Given the description of an element on the screen output the (x, y) to click on. 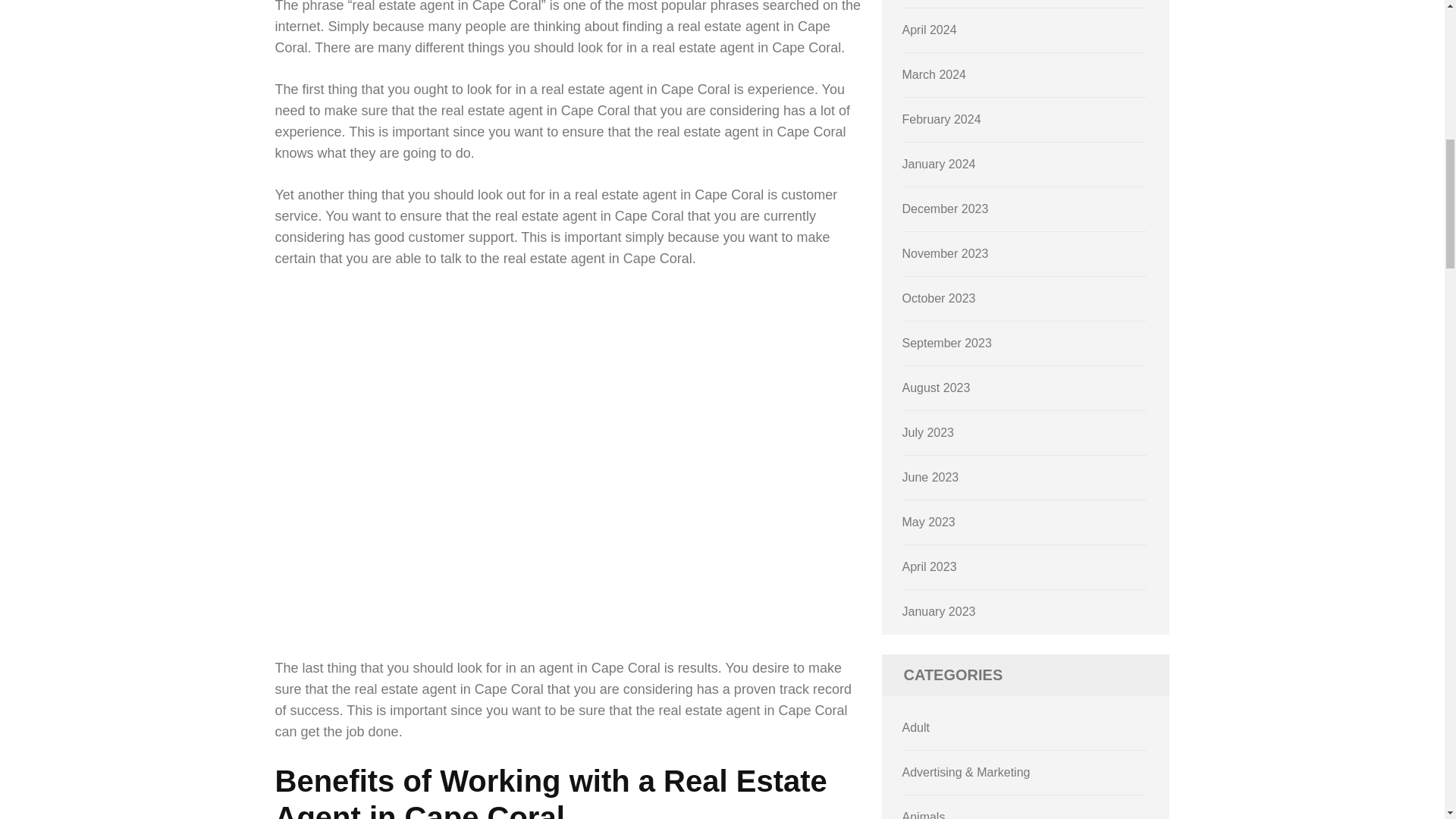
December 2023 (945, 208)
February 2024 (941, 119)
March 2024 (934, 74)
January 2023 (938, 611)
April 2023 (929, 566)
June 2023 (930, 477)
January 2024 (938, 164)
September 2023 (946, 342)
August 2023 (936, 387)
July 2023 (928, 431)
November 2023 (945, 253)
October 2023 (938, 297)
April 2024 (929, 29)
May 2023 (928, 521)
